Given the description of an element on the screen output the (x, y) to click on. 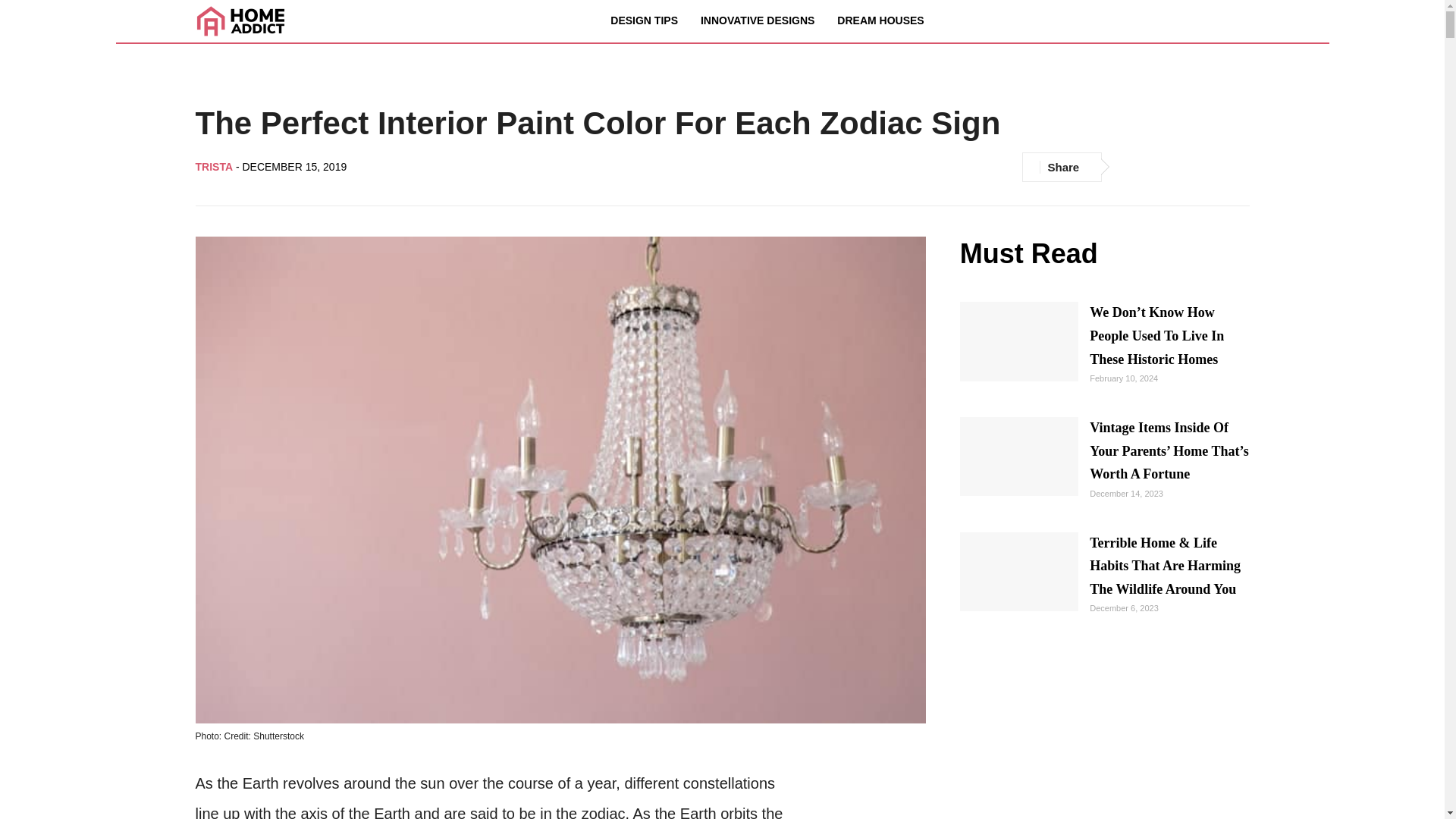
INNOVATIVE DESIGNS (757, 20)
DREAM HOUSES (880, 20)
DESIGN TIPS (643, 20)
TRISTA (215, 166)
